Given the description of an element on the screen output the (x, y) to click on. 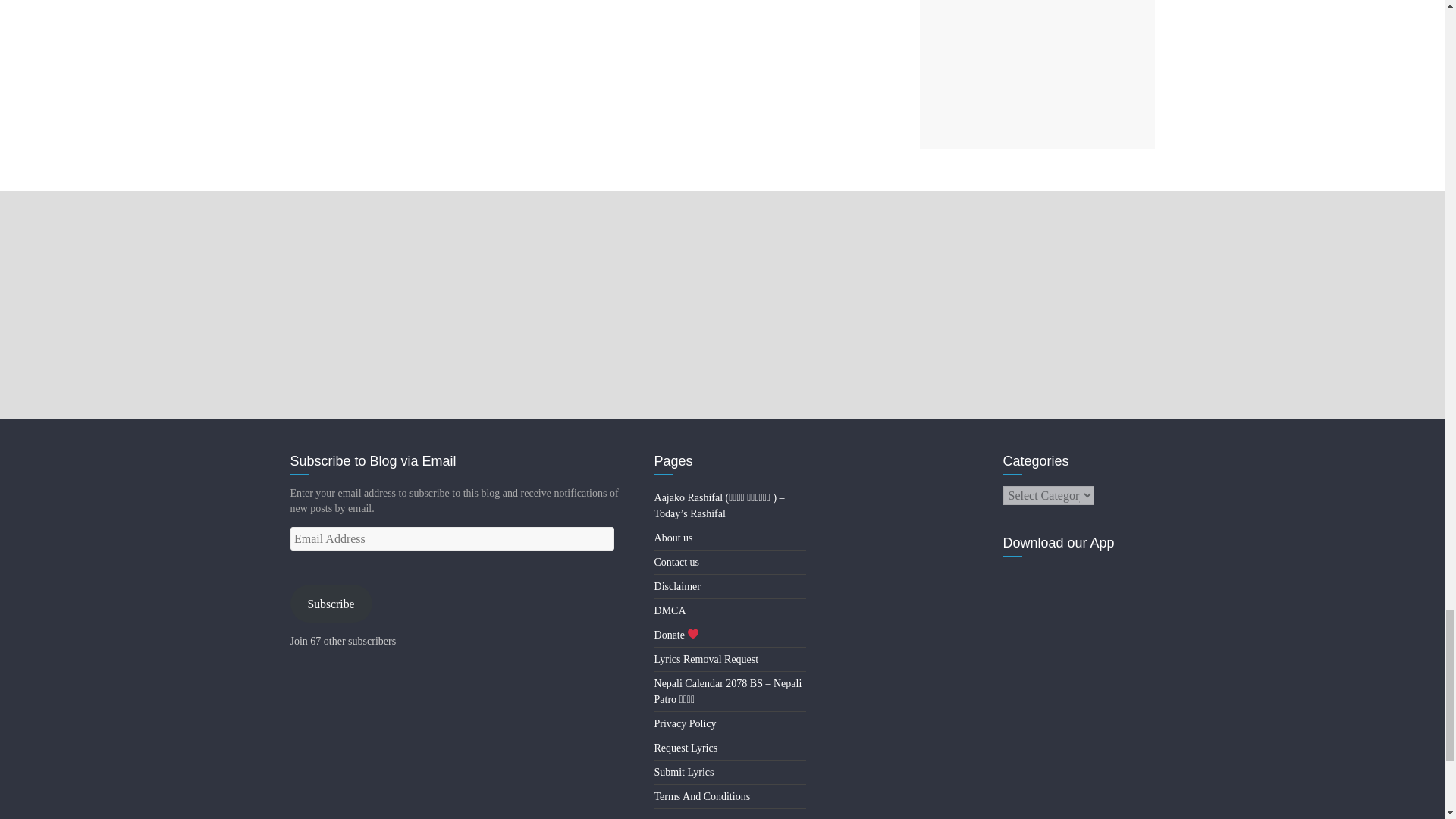
Advertisement (1036, 74)
